Given the description of an element on the screen output the (x, y) to click on. 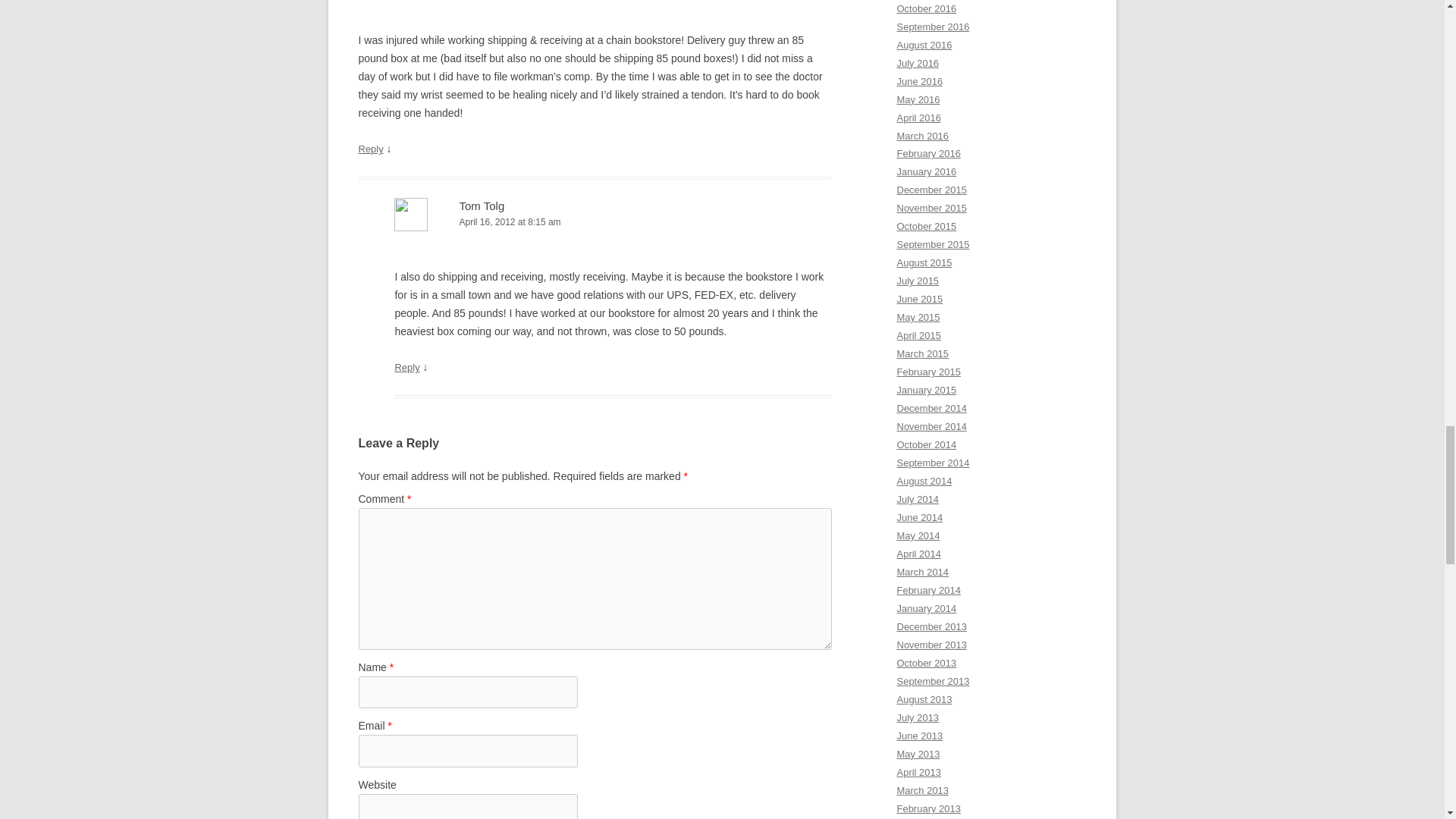
Reply (370, 148)
April 16, 2012 at 8:15 am (612, 222)
Reply (406, 367)
Tom Tolg (480, 205)
